Given the description of an element on the screen output the (x, y) to click on. 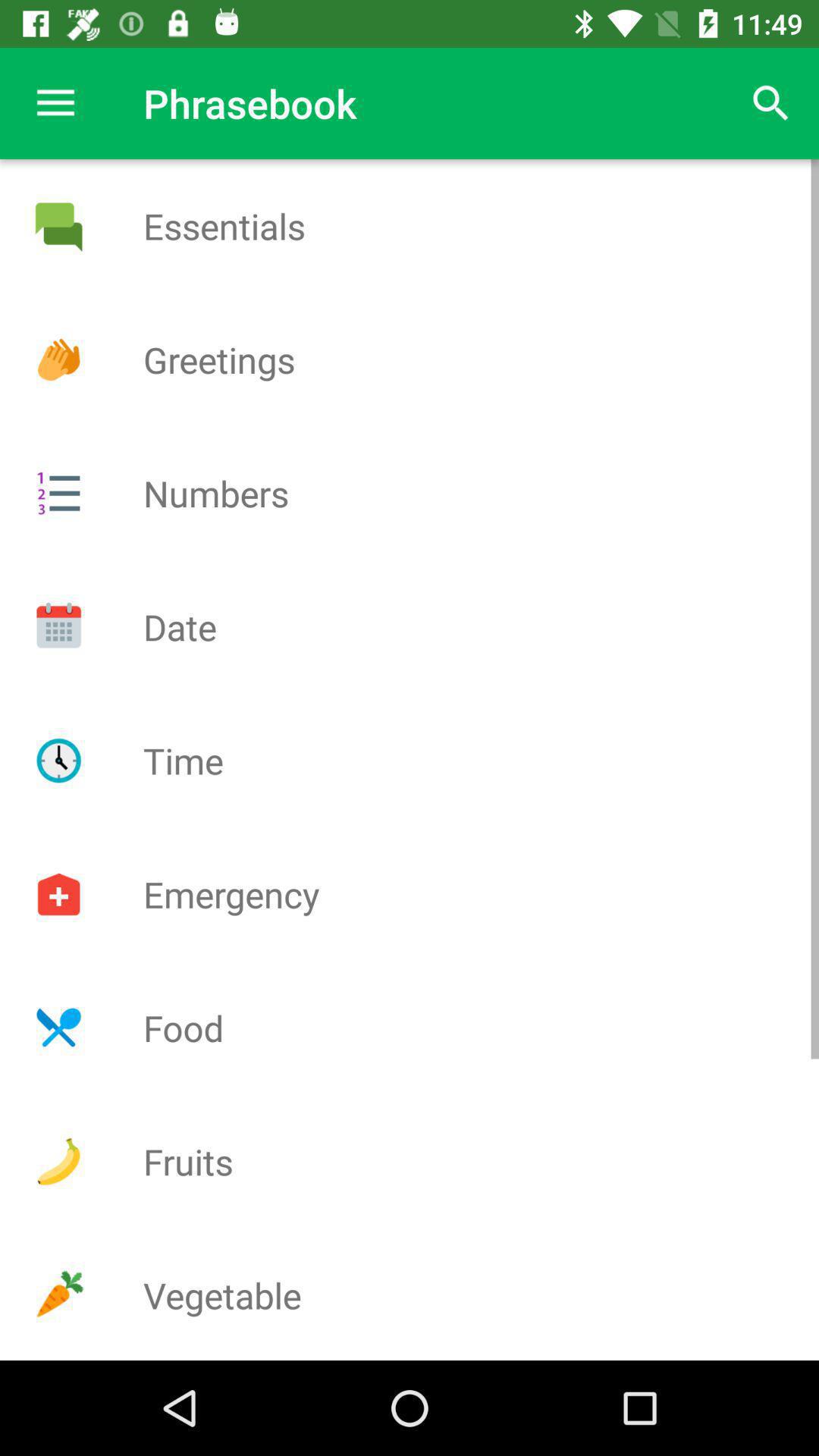
go to emergency (58, 894)
